Given the description of an element on the screen output the (x, y) to click on. 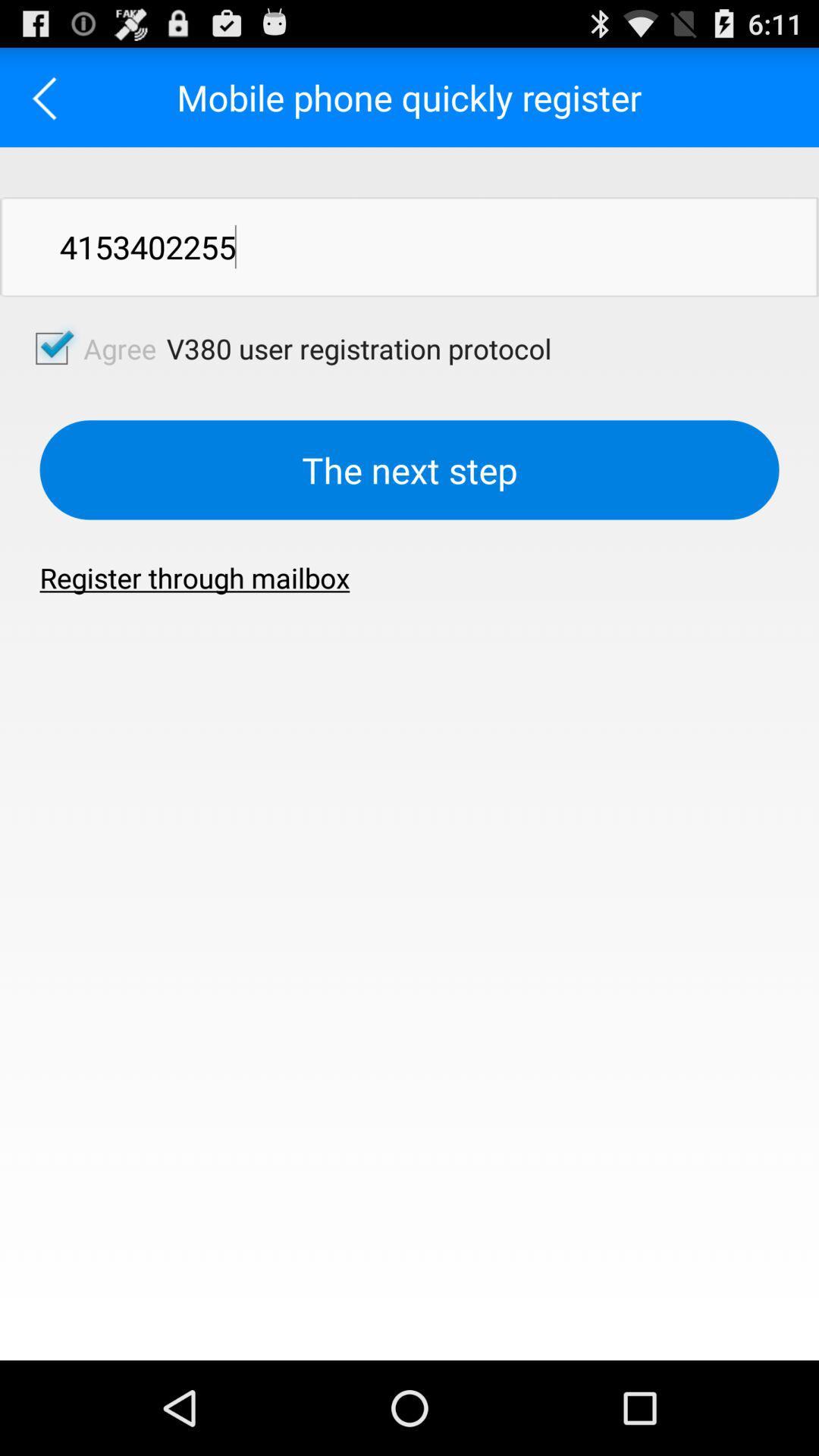
agree with it (51, 348)
